Given the description of an element on the screen output the (x, y) to click on. 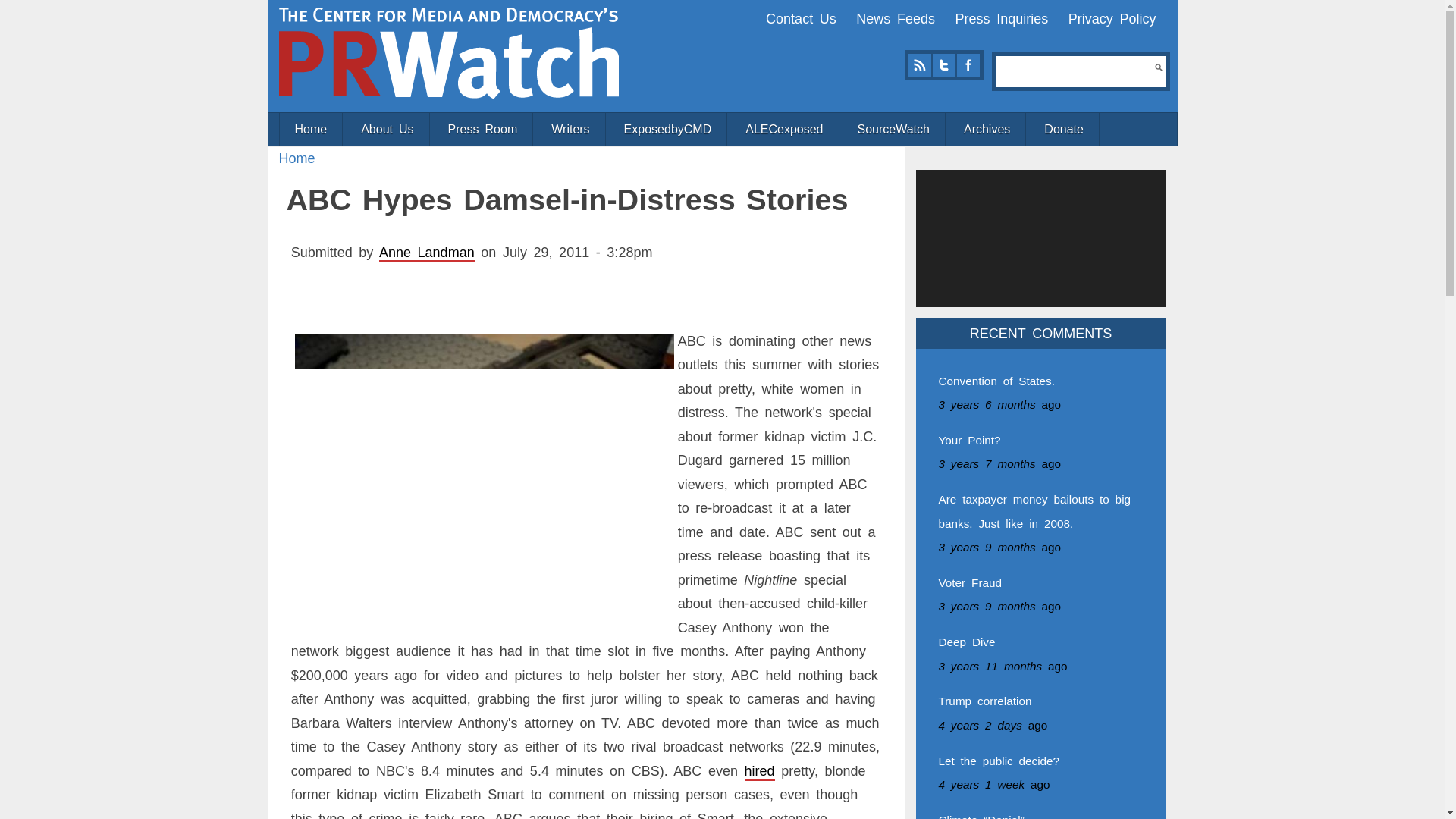
Enter the terms you wish to search for. (1074, 71)
Privacy Policy (1112, 18)
Search (1157, 67)
RSS (919, 64)
View user profile. (426, 252)
Damsel in distress (484, 475)
Home (297, 158)
Subscribe to CMD's RSS Feeds (919, 64)
Anne Landman (426, 252)
Home (448, 52)
